Given the description of an element on the screen output the (x, y) to click on. 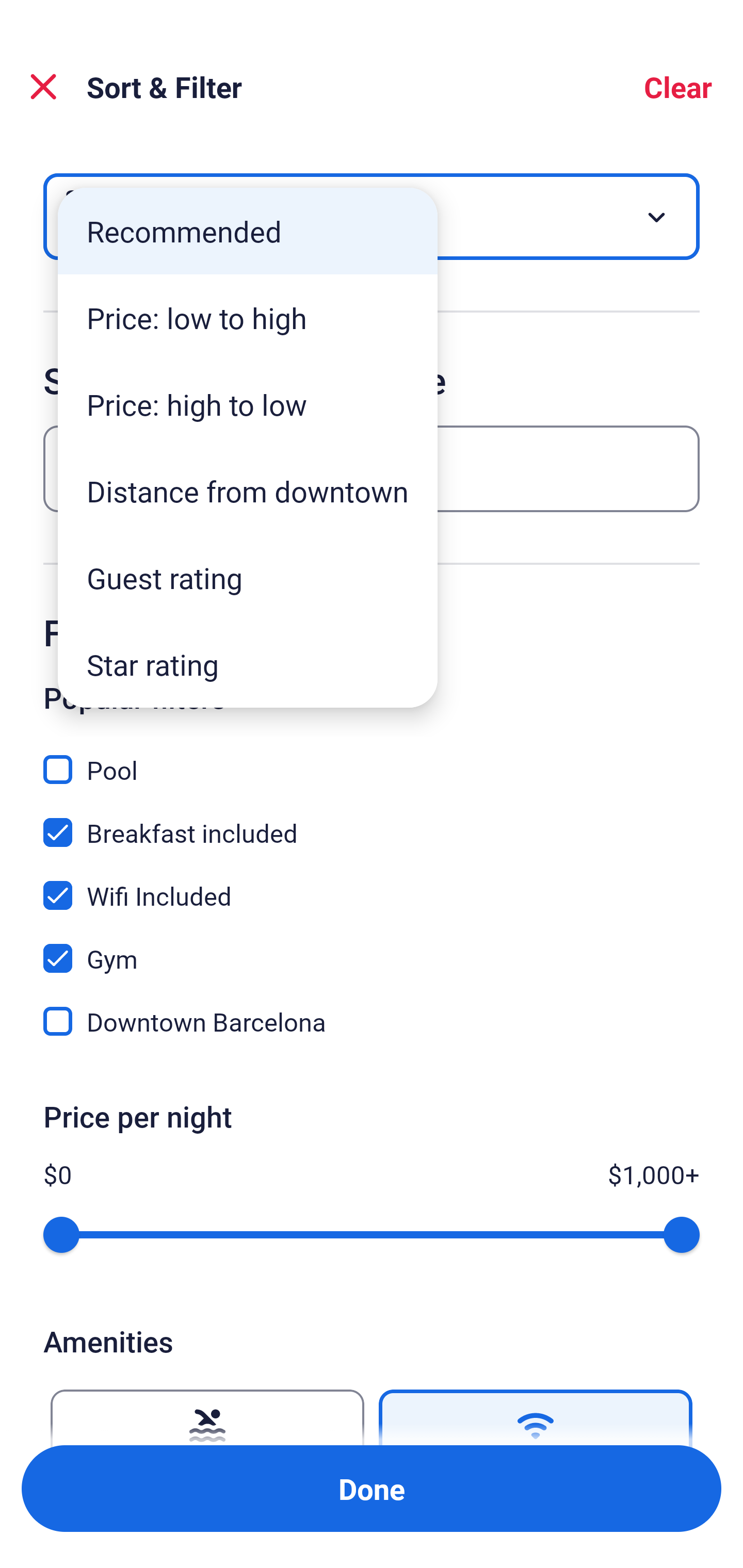
Price: low to high (247, 317)
Price: high to low (247, 404)
Distance from downtown (247, 491)
Guest rating (247, 577)
Star rating (247, 663)
